Given the description of an element on the screen output the (x, y) to click on. 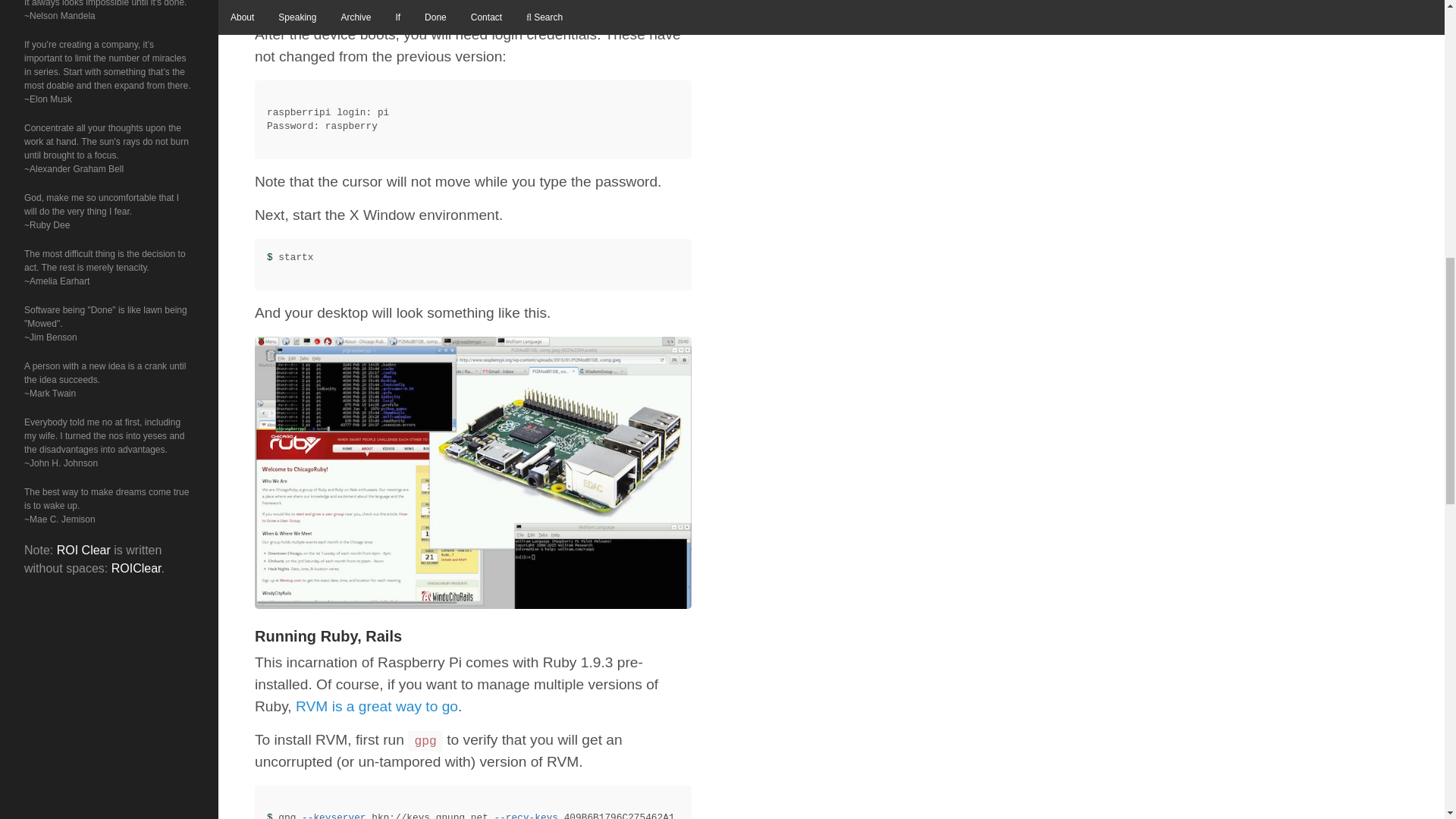
ROIClear (136, 567)
RVM is a great way to go (376, 706)
ROI Clear (83, 549)
